Given the description of an element on the screen output the (x, y) to click on. 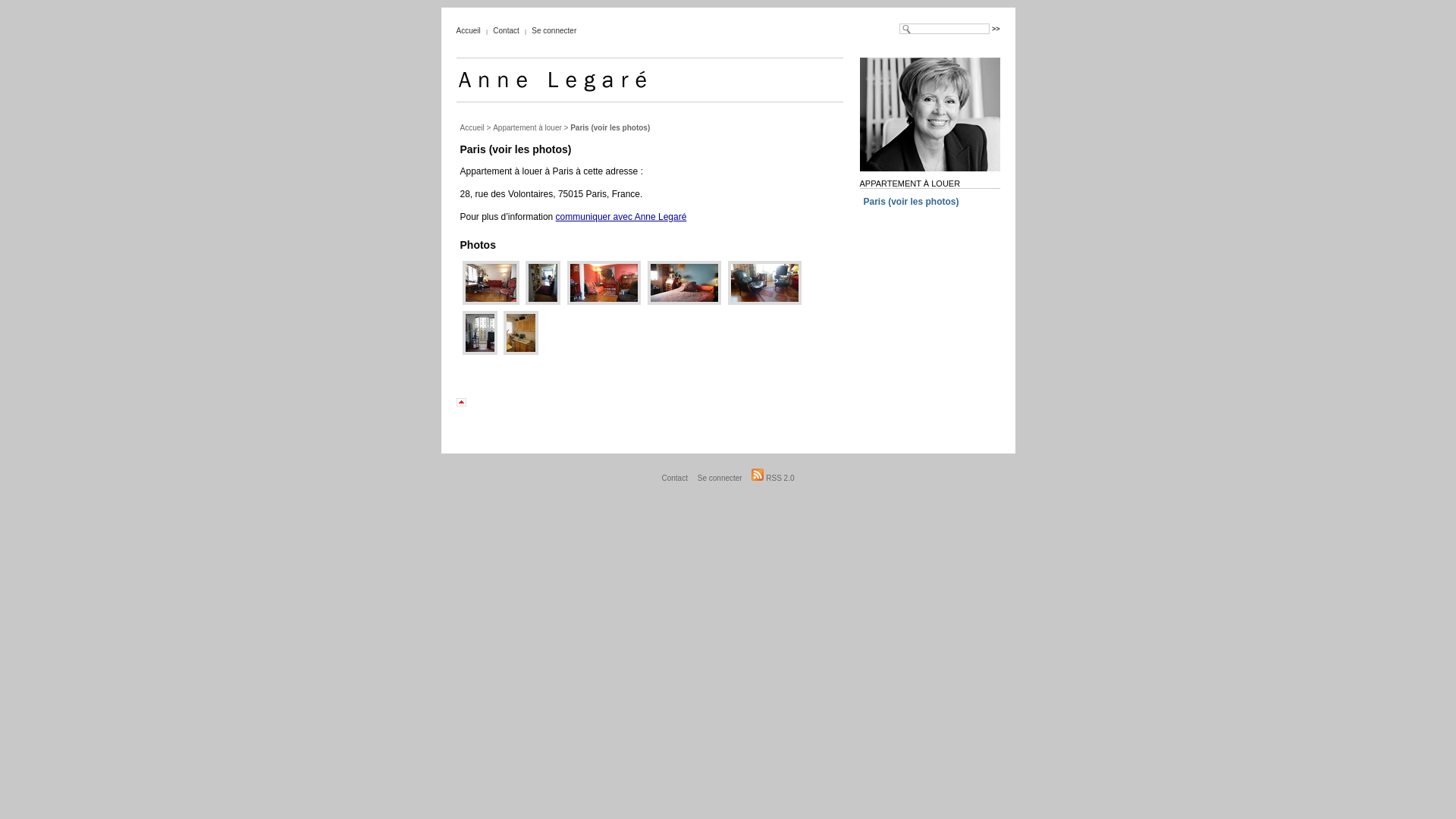
Contact Element type: text (674, 477)
Balcon Element type: hover (478, 352)
Salon Element type: hover (764, 302)
Se connecter Element type: text (553, 30)
Contact Element type: text (505, 30)
Corridor Element type: hover (542, 302)
Accueil Element type: text (467, 30)
Paris (voir les photos) Element type: text (910, 201)
Rechercher Element type: hover (995, 28)
Chambre Element type: hover (684, 302)
 RSS 2.0 Element type: text (772, 477)
Se connecter Element type: text (719, 477)
cuisine Element type: hover (520, 352)
>> Element type: text (995, 28)
remonter Element type: text (471, 402)
Salon Element type: hover (489, 302)
Accueil Element type: text (471, 127)
